Given the description of an element on the screen output the (x, y) to click on. 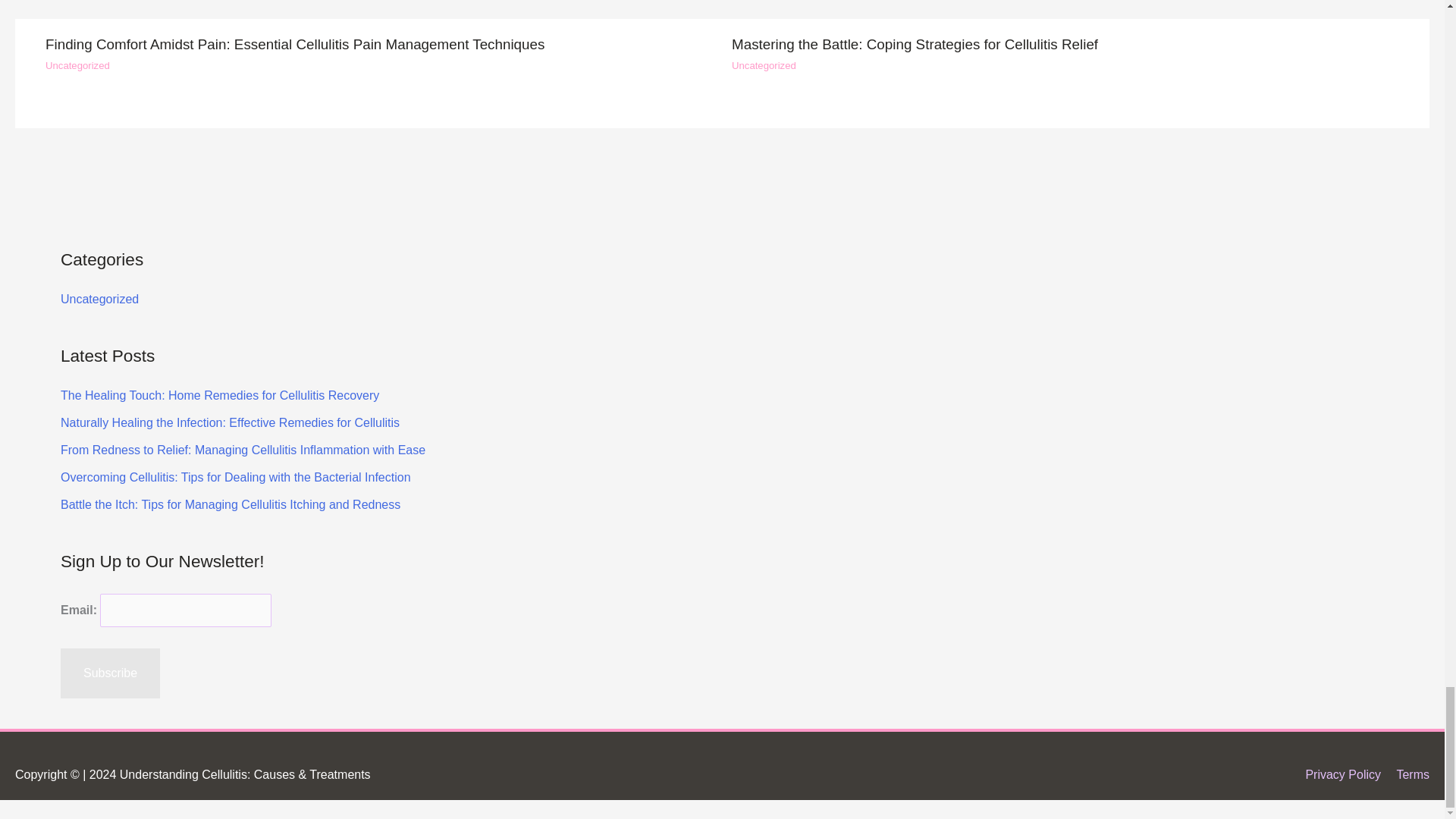
Subscribe (1065, 12)
Uncategorized (110, 673)
Terms (99, 298)
Uncategorized (379, 12)
